Given the description of an element on the screen output the (x, y) to click on. 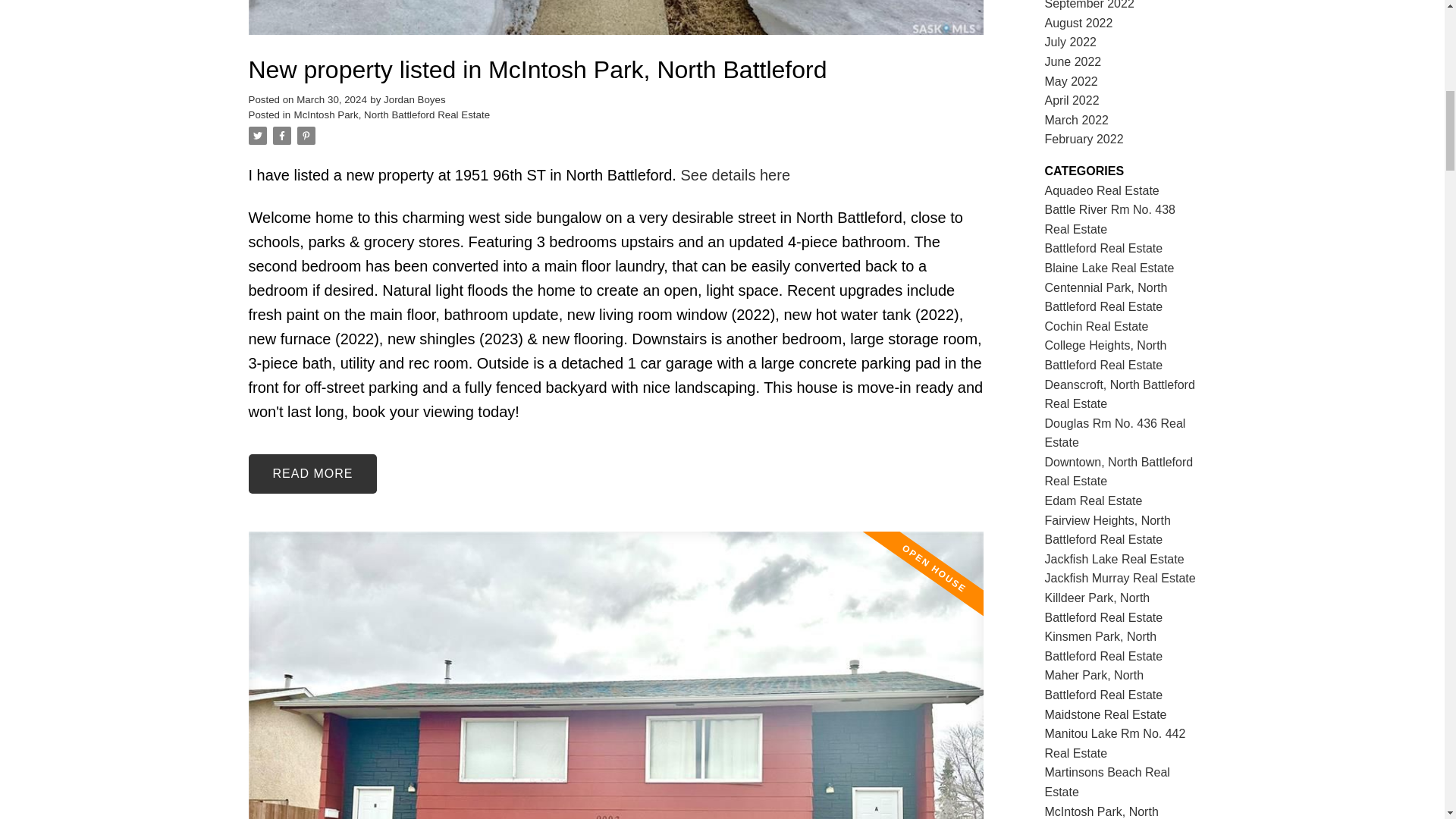
Read full post (616, 26)
See details here (734, 175)
McIntosh Park, North Battleford Real Estate (392, 114)
READ (312, 473)
New property listed in McIntosh Park, North Battleford (616, 69)
